Given the description of an element on the screen output the (x, y) to click on. 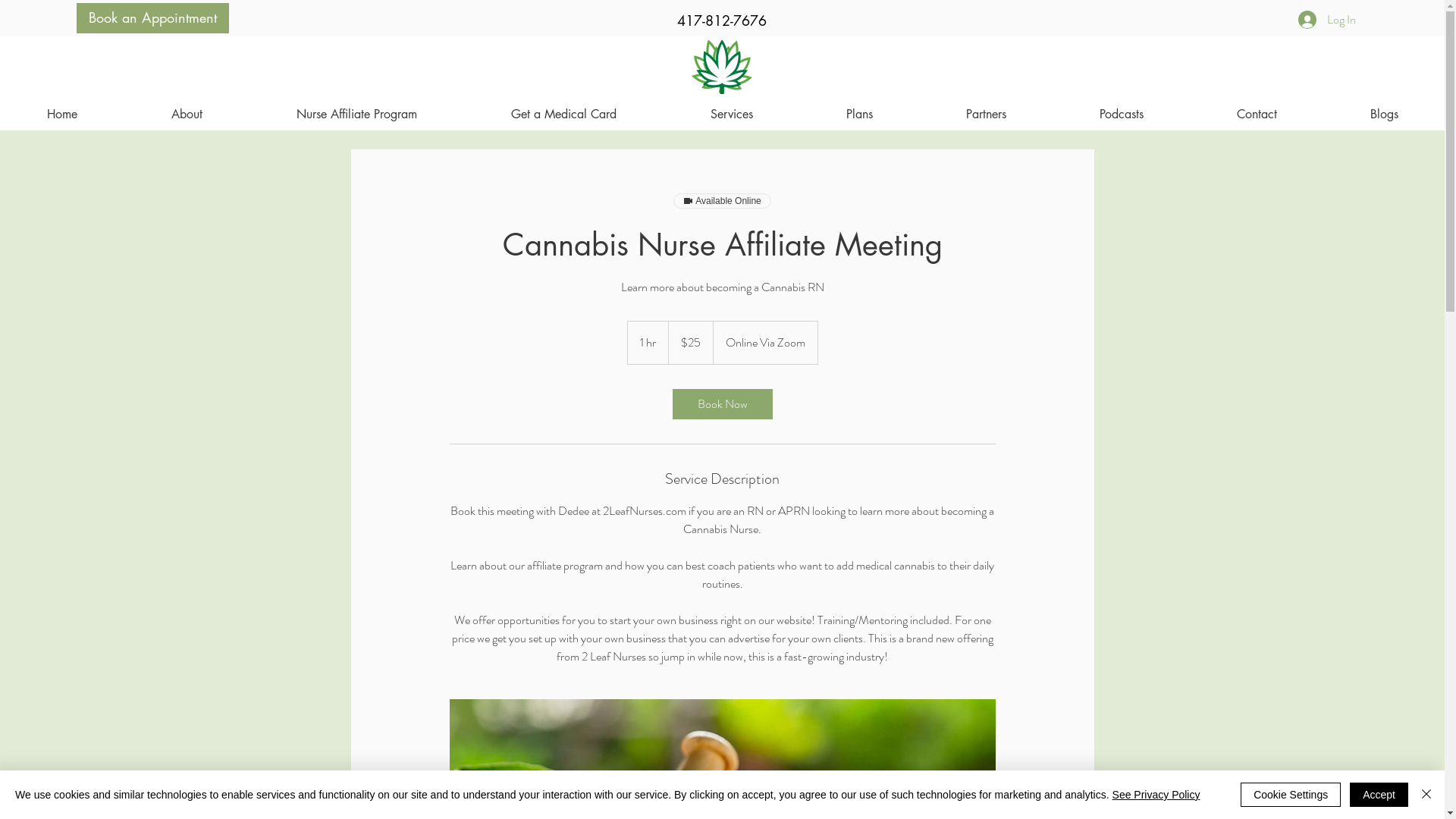
Nurse Affiliate Program Element type: text (356, 113)
About Element type: text (186, 113)
Accept Element type: text (1378, 794)
Book Now Element type: text (721, 404)
See Privacy Policy Element type: text (1156, 794)
Log In Element type: text (1326, 19)
Partners Element type: text (985, 113)
Book an Appointment Element type: text (152, 18)
Cookie Settings Element type: text (1290, 794)
Services Element type: text (731, 113)
Home Element type: text (62, 113)
Blogs Element type: text (1383, 113)
Get a Medical Card Element type: text (563, 113)
Plans Element type: text (859, 113)
417-812-7676 Element type: text (721, 21)
Podcasts Element type: text (1120, 113)
Contact Element type: text (1256, 113)
